Given the description of an element on the screen output the (x, y) to click on. 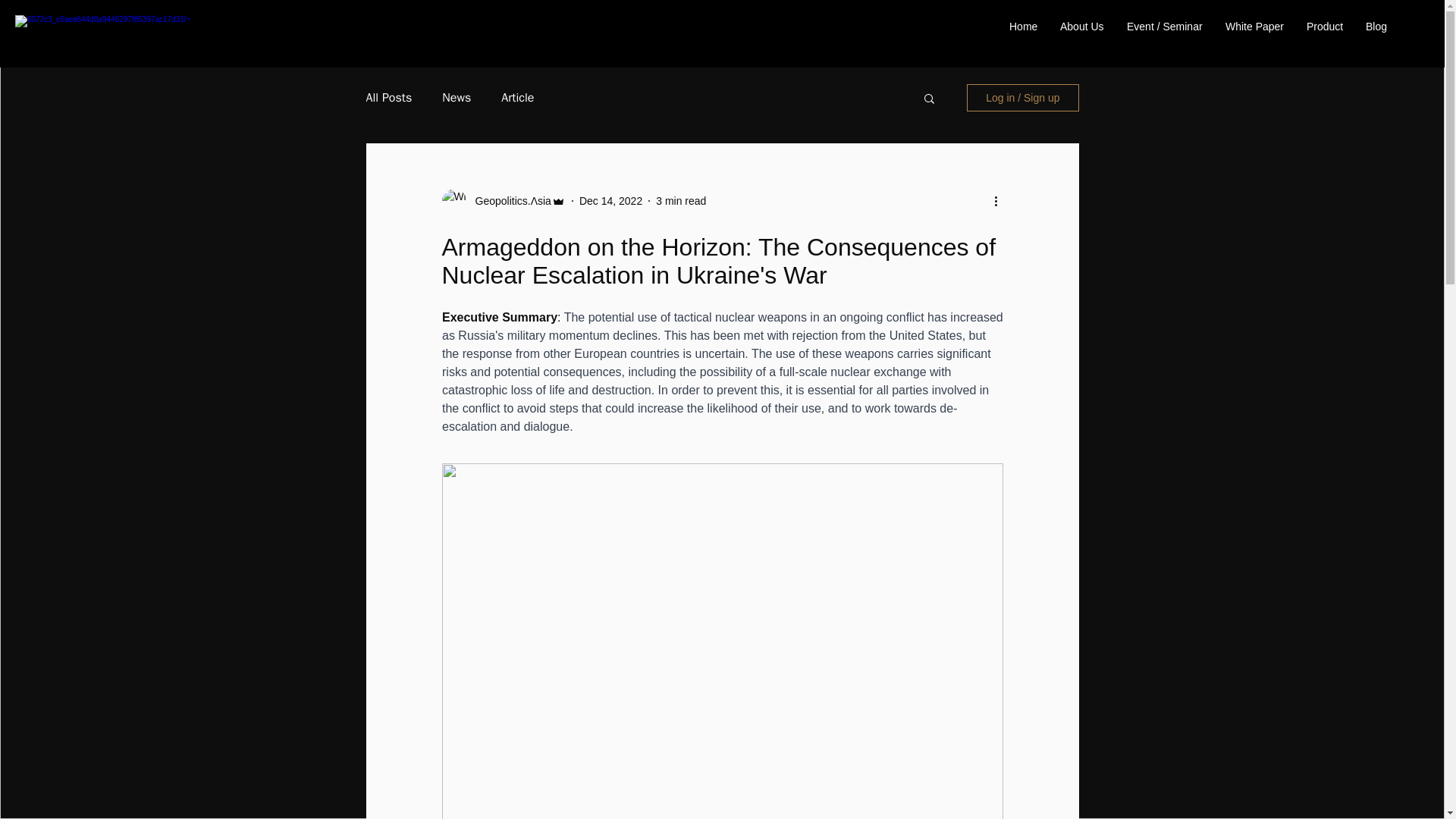
Blog (1375, 26)
Dec 14, 2022 (610, 200)
News (456, 97)
3 min read (681, 200)
About Us (1081, 26)
White Paper (1254, 26)
All Posts (388, 97)
Product (1324, 26)
Article (517, 97)
Home (1022, 26)
